Given the description of an element on the screen output the (x, y) to click on. 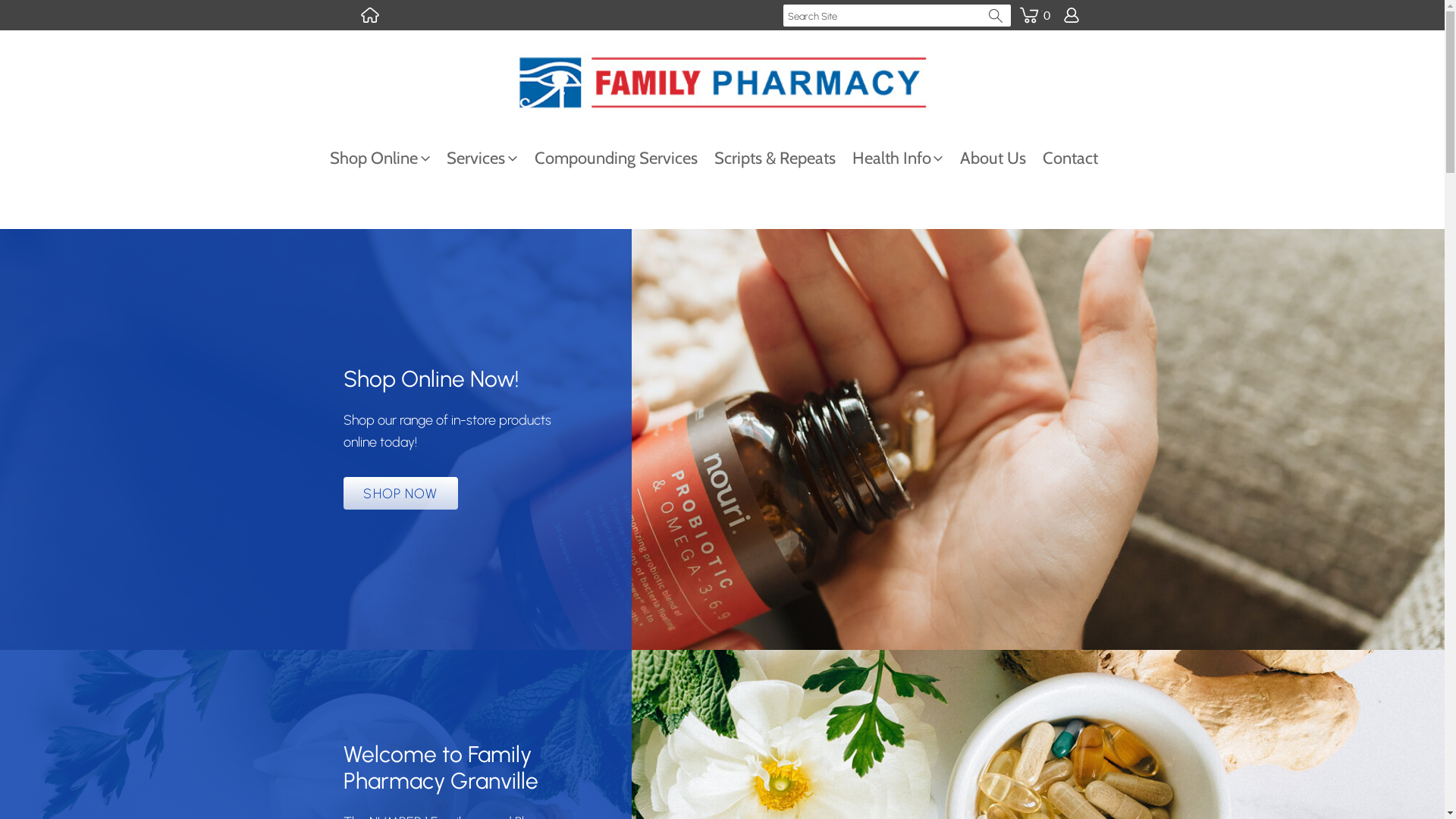
Profile Element type: hover (1070, 15)
Shop Online Element type: text (387, 157)
Contact Element type: text (1078, 157)
Compounding Services Element type: text (624, 157)
  Element type: text (368, 15)
SHOP NOW Element type: text (400, 492)
Services Element type: text (489, 157)
  0 Element type: text (1033, 6)
About Us Element type: text (1001, 157)
Home Element type: hover (368, 15)
Health Info Element type: text (906, 157)
Scripts & Repeats Element type: text (783, 157)
